Given the description of an element on the screen output the (x, y) to click on. 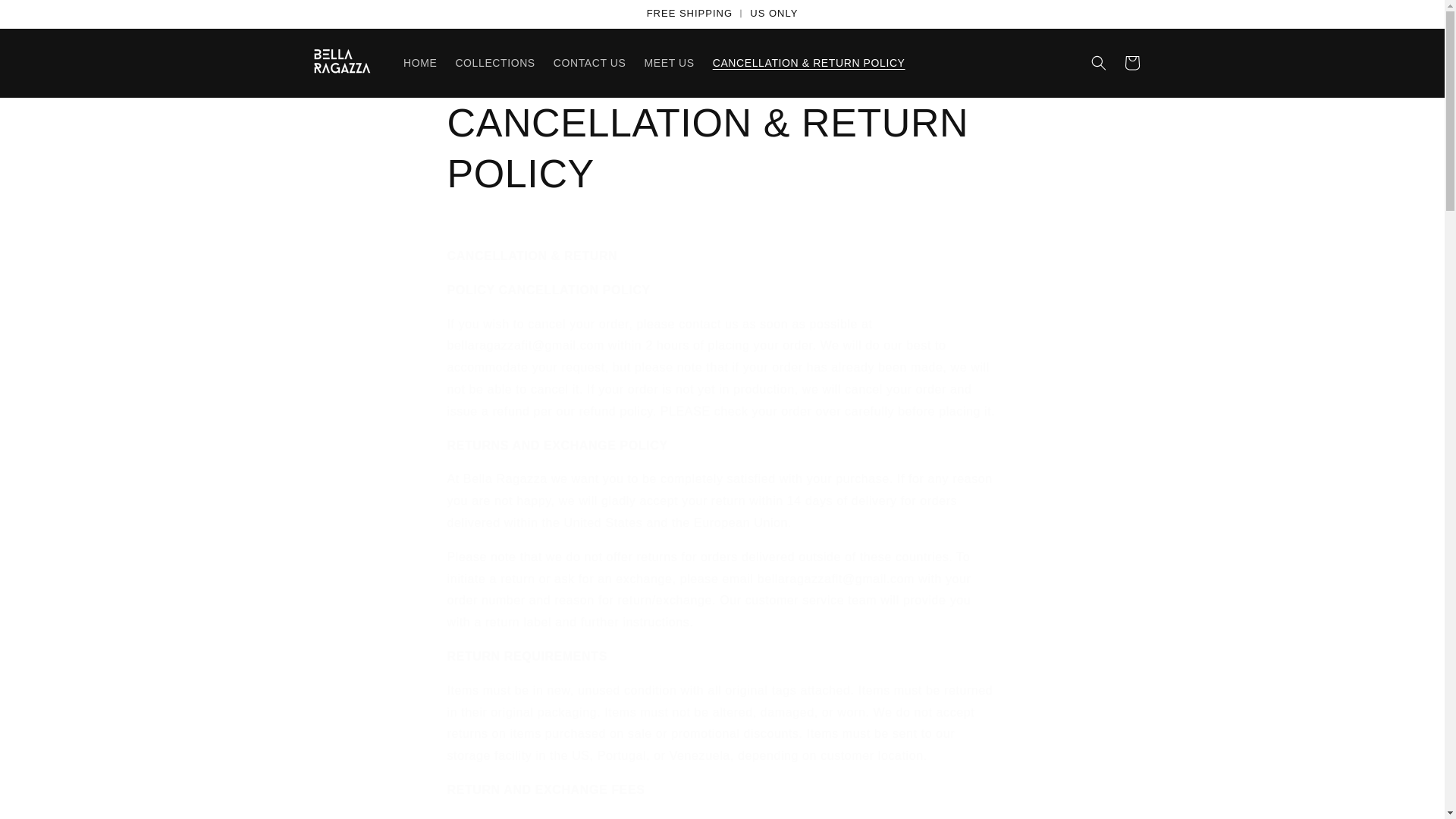
HOME (419, 62)
MEET US (668, 62)
COLLECTIONS (494, 62)
Cart (1131, 62)
Skip to content (45, 17)
CONTACT US (589, 62)
